Given the description of an element on the screen output the (x, y) to click on. 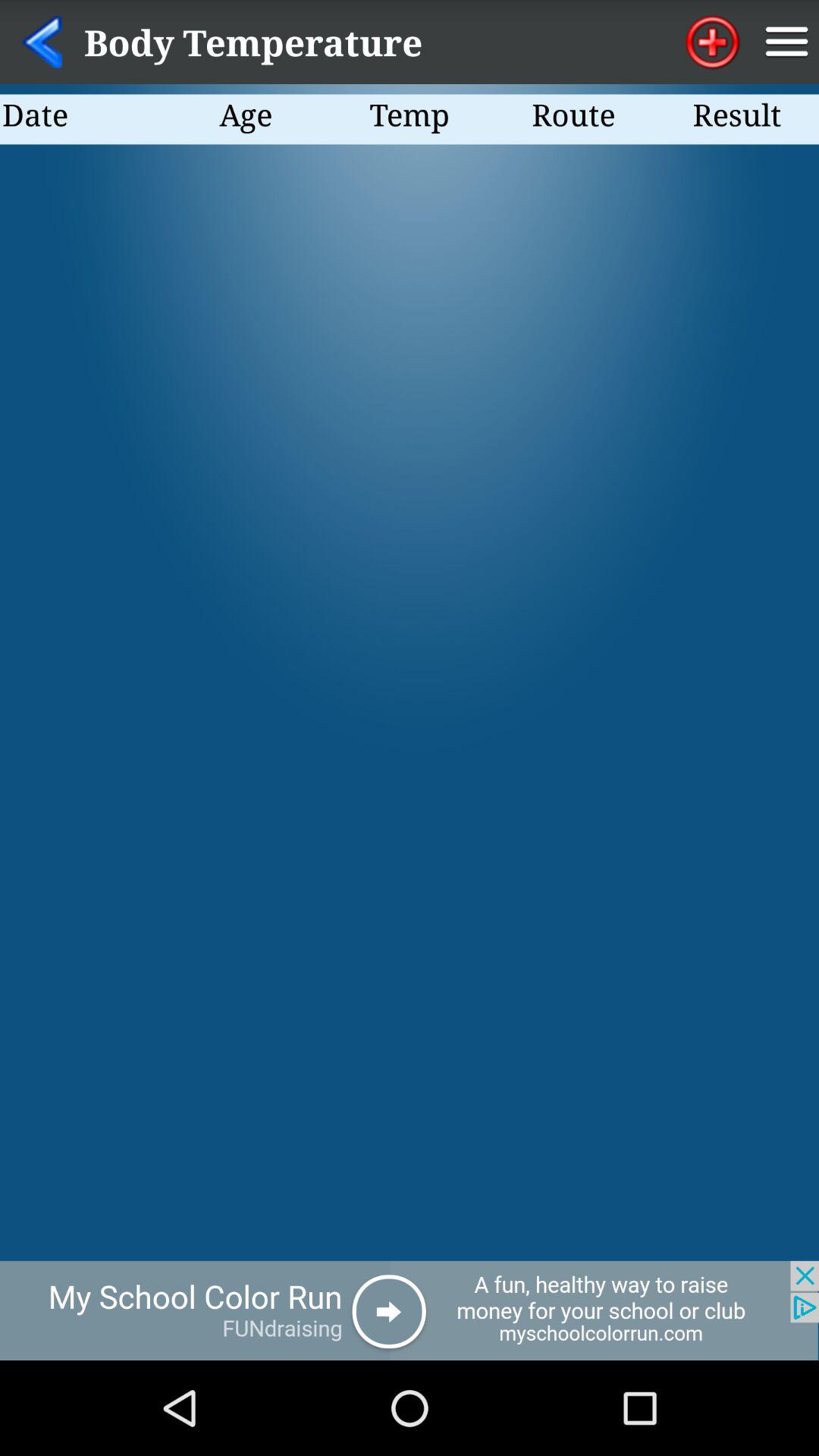
go back (42, 42)
